Given the description of an element on the screen output the (x, y) to click on. 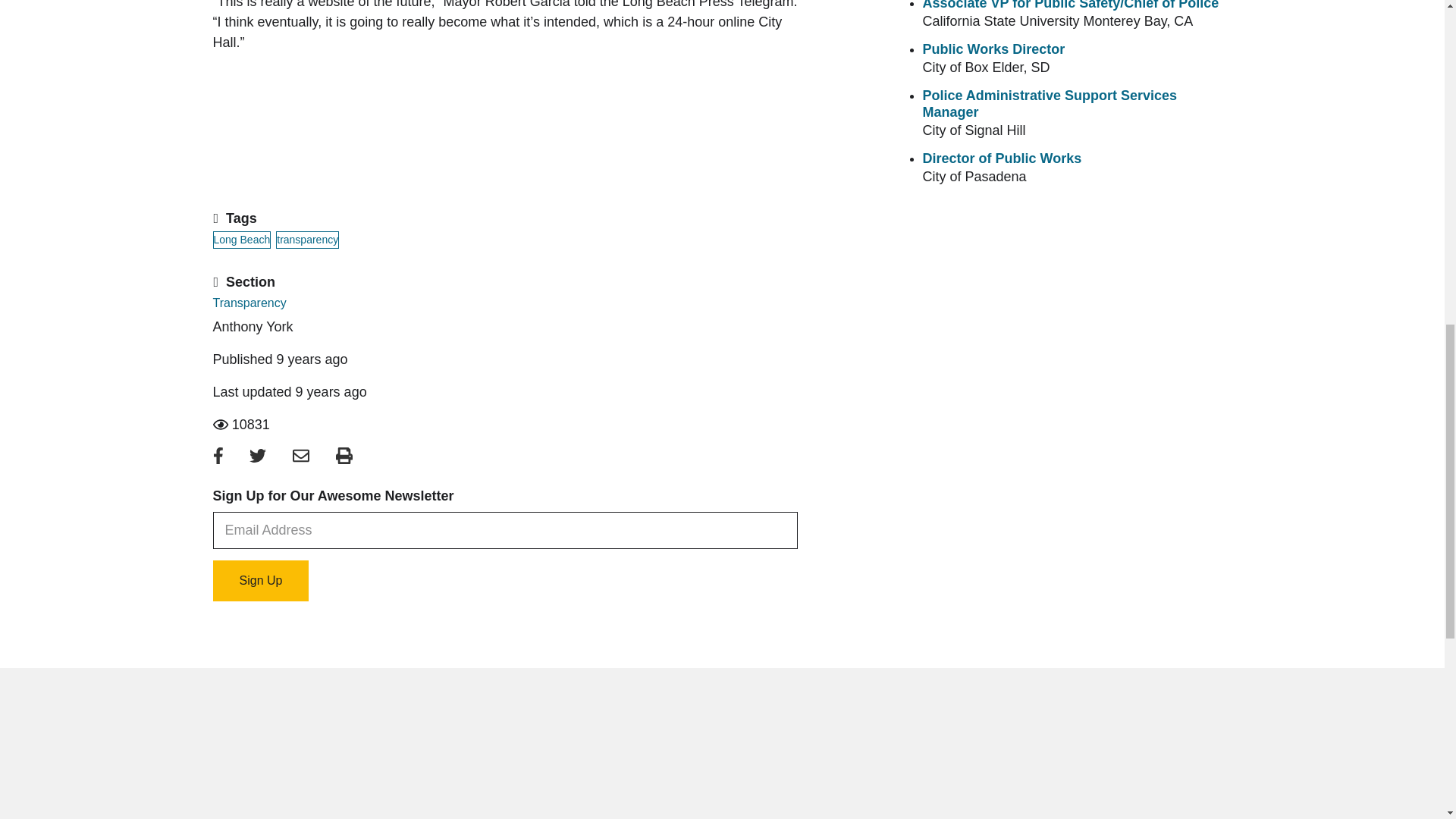
Long Beach (241, 239)
transparency (307, 239)
Sign Up (260, 580)
Transparency (248, 303)
Total views (504, 424)
